Given the description of an element on the screen output the (x, y) to click on. 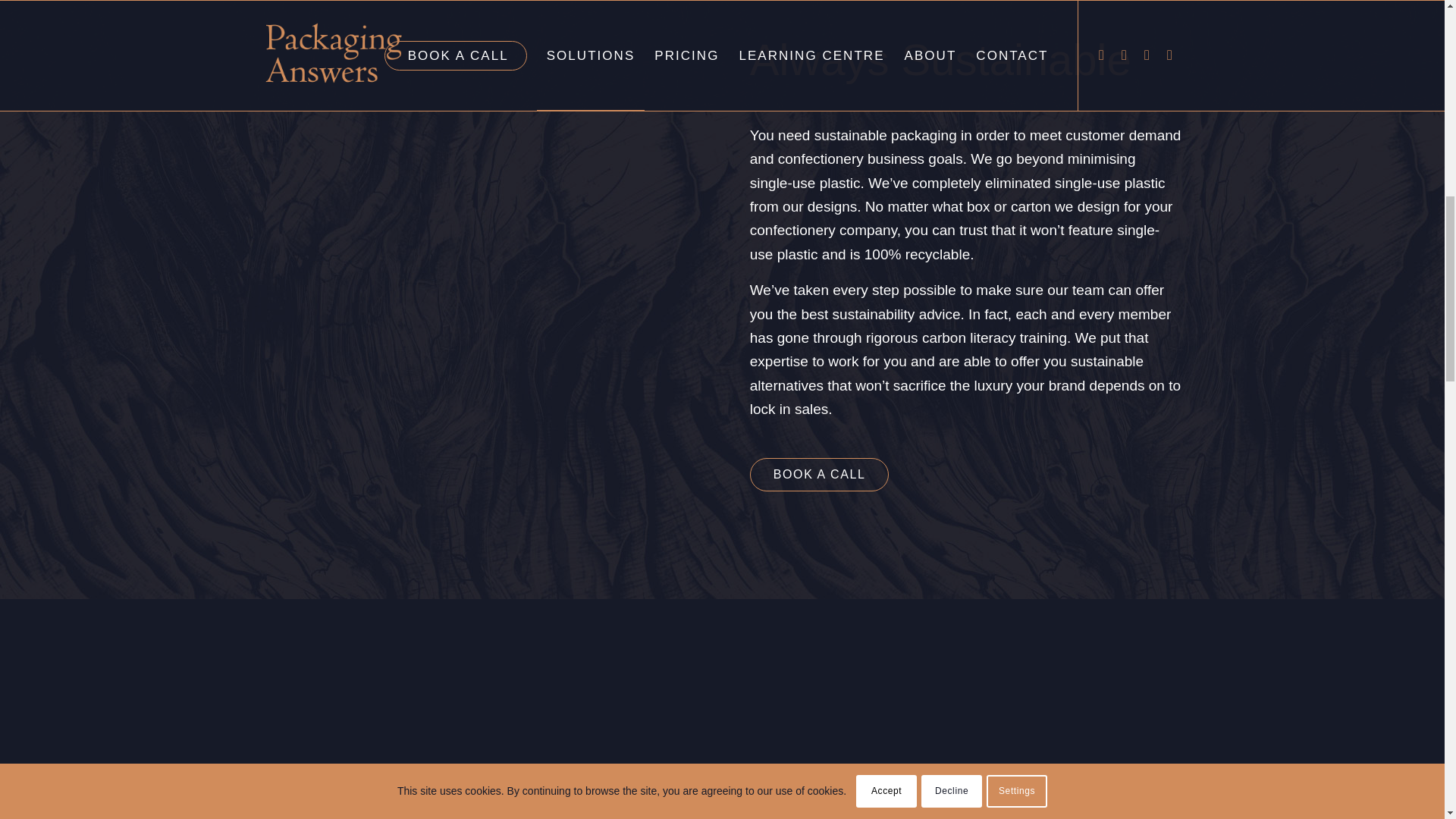
BOOK A CALL (819, 473)
